Given the description of an element on the screen output the (x, y) to click on. 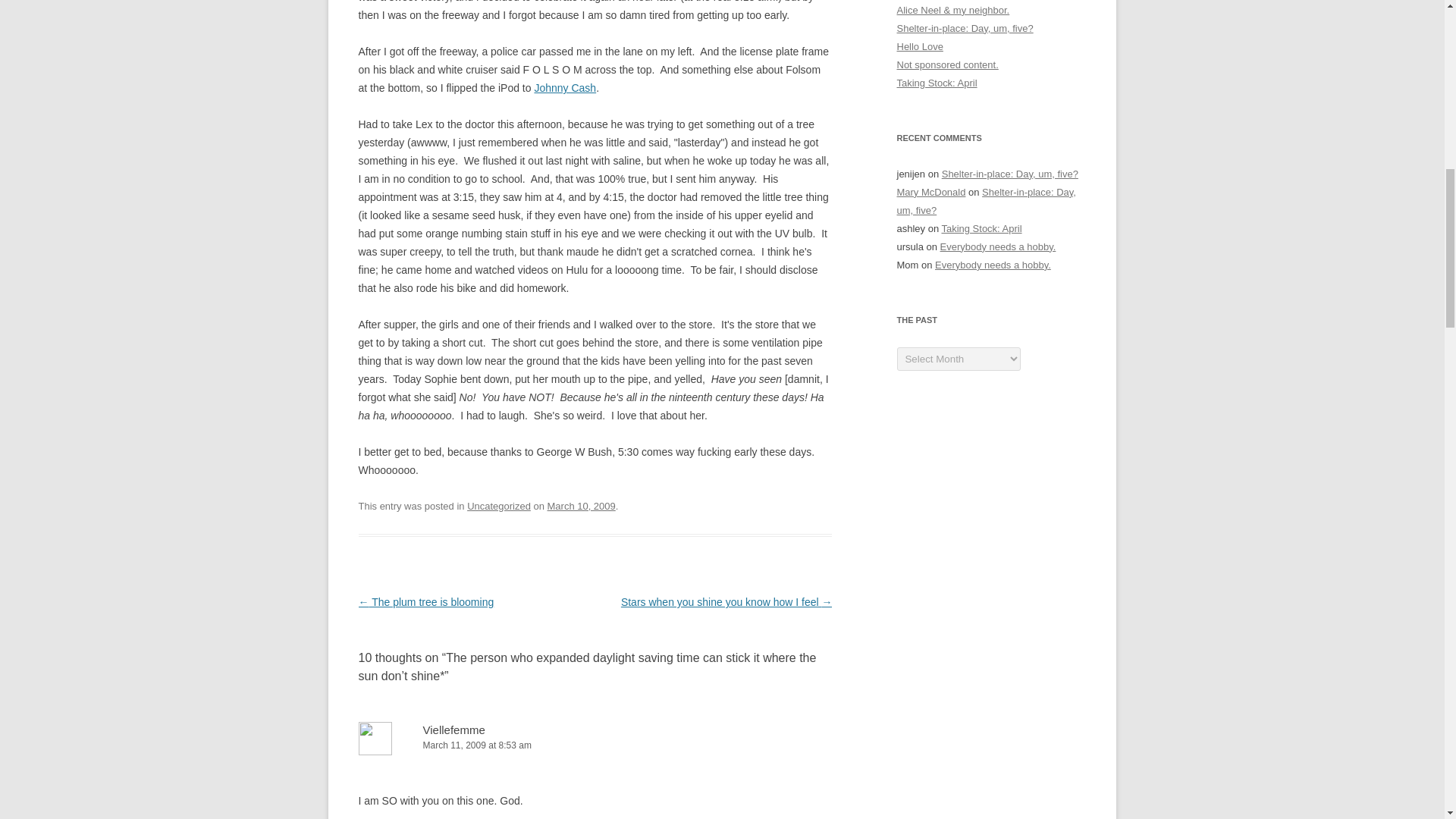
March 11, 2009 at 8:53 am (594, 745)
Johnny Cash (564, 87)
Uncategorized (499, 505)
11:59 pm (581, 505)
March 10, 2009 (581, 505)
